Given the description of an element on the screen output the (x, y) to click on. 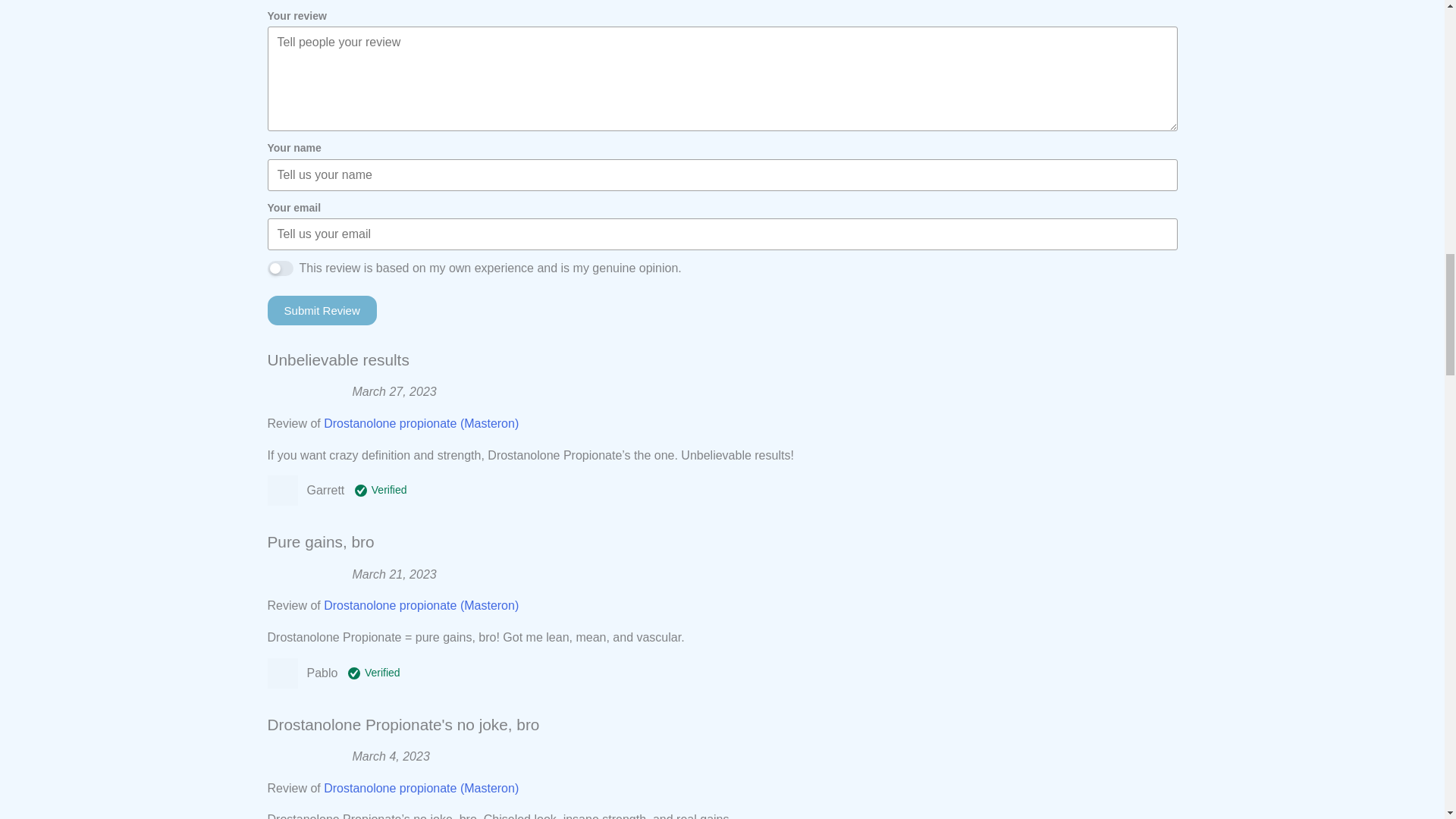
1 (279, 268)
